Given the description of an element on the screen output the (x, y) to click on. 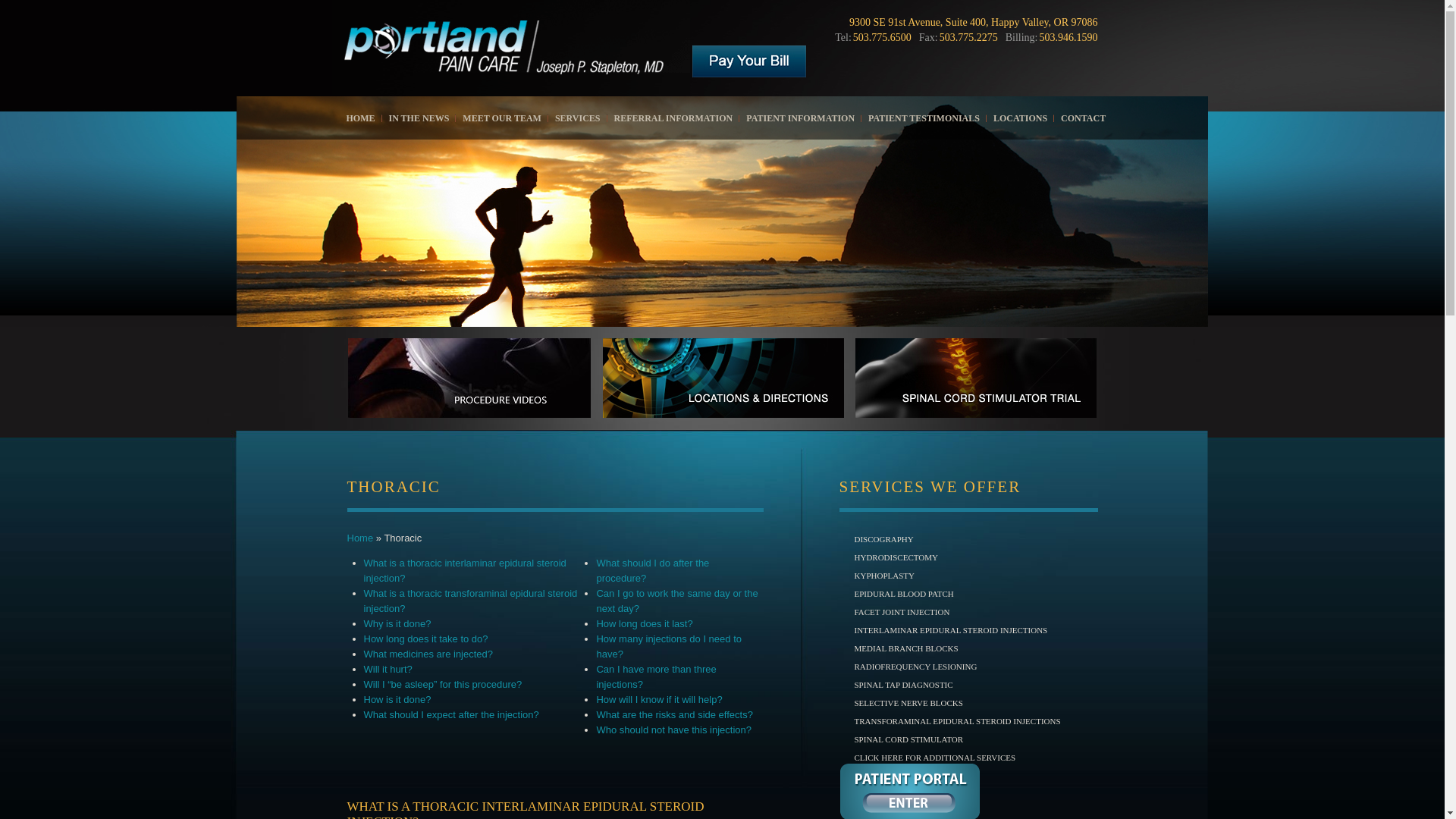
How many injections do I need to have? (668, 646)
What is a thoracic interlaminar epidural steroid injection? (465, 570)
How is it done? (397, 699)
What should I do after the procedure? (652, 570)
MEET OUR TEAM (501, 118)
IN THE NEWS (419, 118)
Why is it done? (397, 623)
How long does it last? (644, 623)
Will it hurt? (388, 668)
REFERRAL INFORMATION (673, 118)
